Given the description of an element on the screen output the (x, y) to click on. 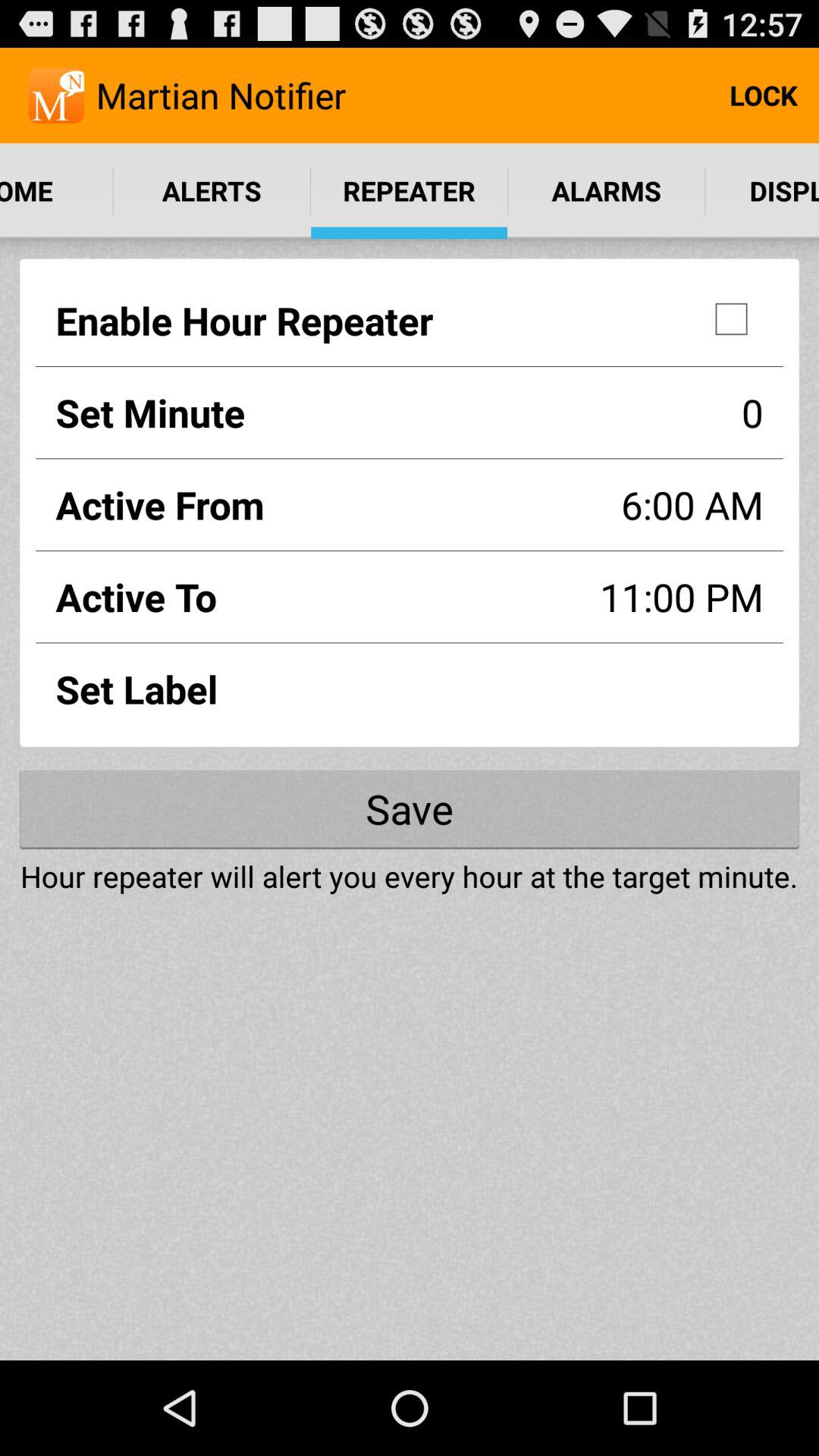
turn off the item above the display app (763, 95)
